Given the description of an element on the screen output the (x, y) to click on. 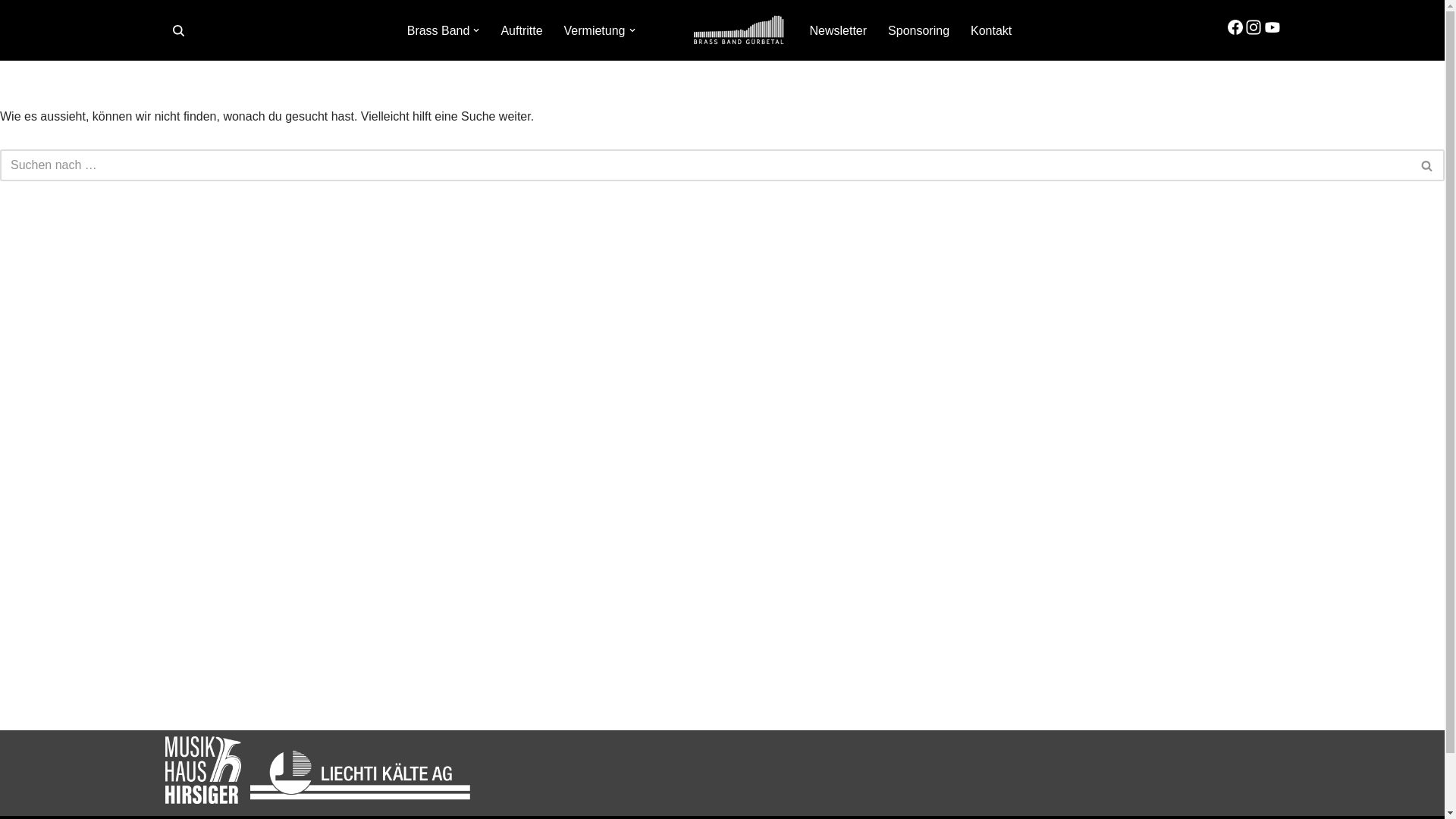
Zum Inhalt springen Element type: text (11, 92)
Vermietung Element type: text (594, 30)
Newsletter Element type: text (838, 30)
Sponsoring Element type: text (918, 30)
Brass Band Element type: text (438, 30)
Auftritte Element type: text (521, 30)
Kontakt Element type: text (990, 30)
